Given the description of an element on the screen output the (x, y) to click on. 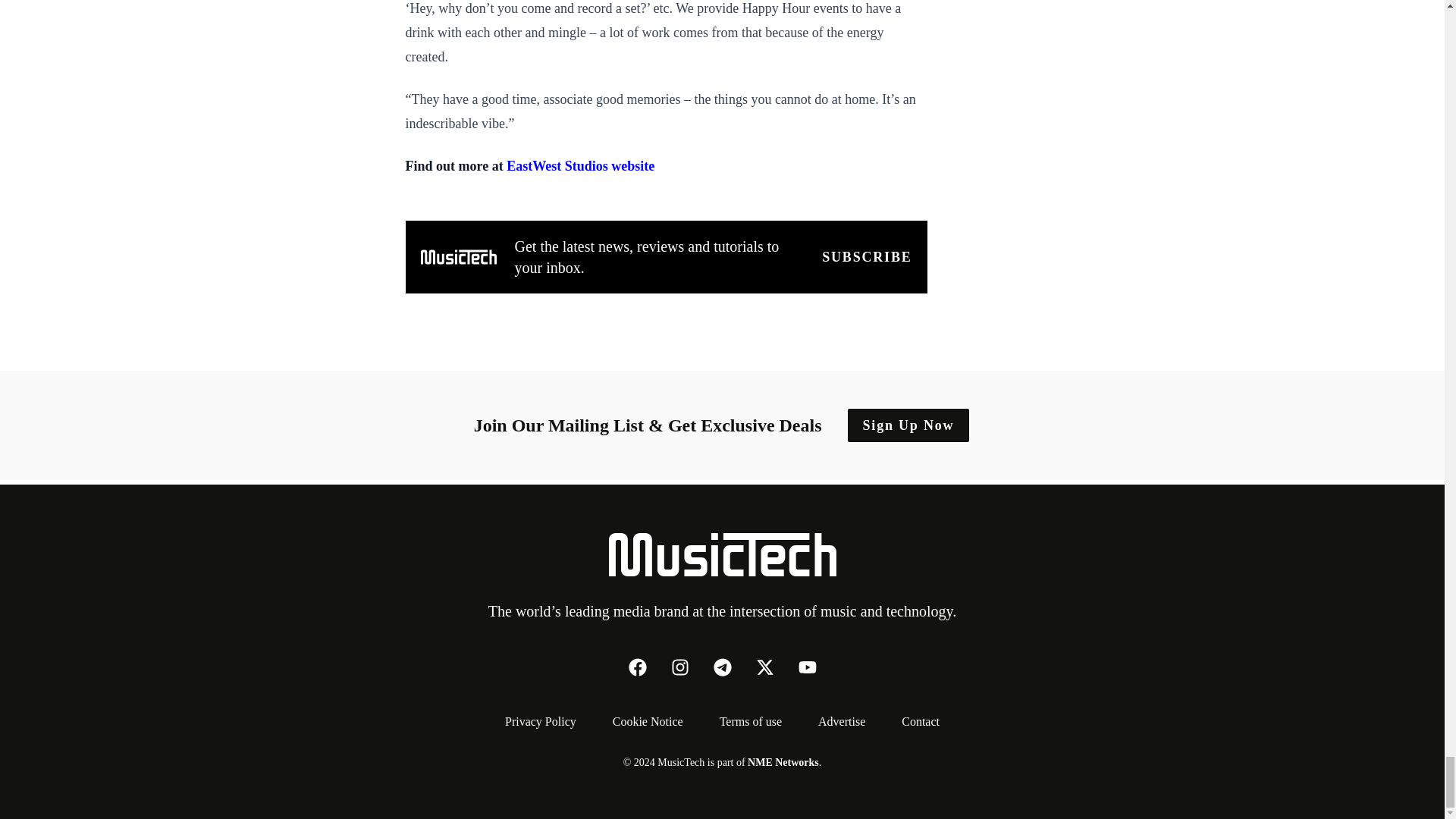
Sign Up Now (908, 425)
EastWest Studios website (579, 165)
Join our mailing list (866, 256)
SUBSCRIBE (866, 256)
